Given the description of an element on the screen output the (x, y) to click on. 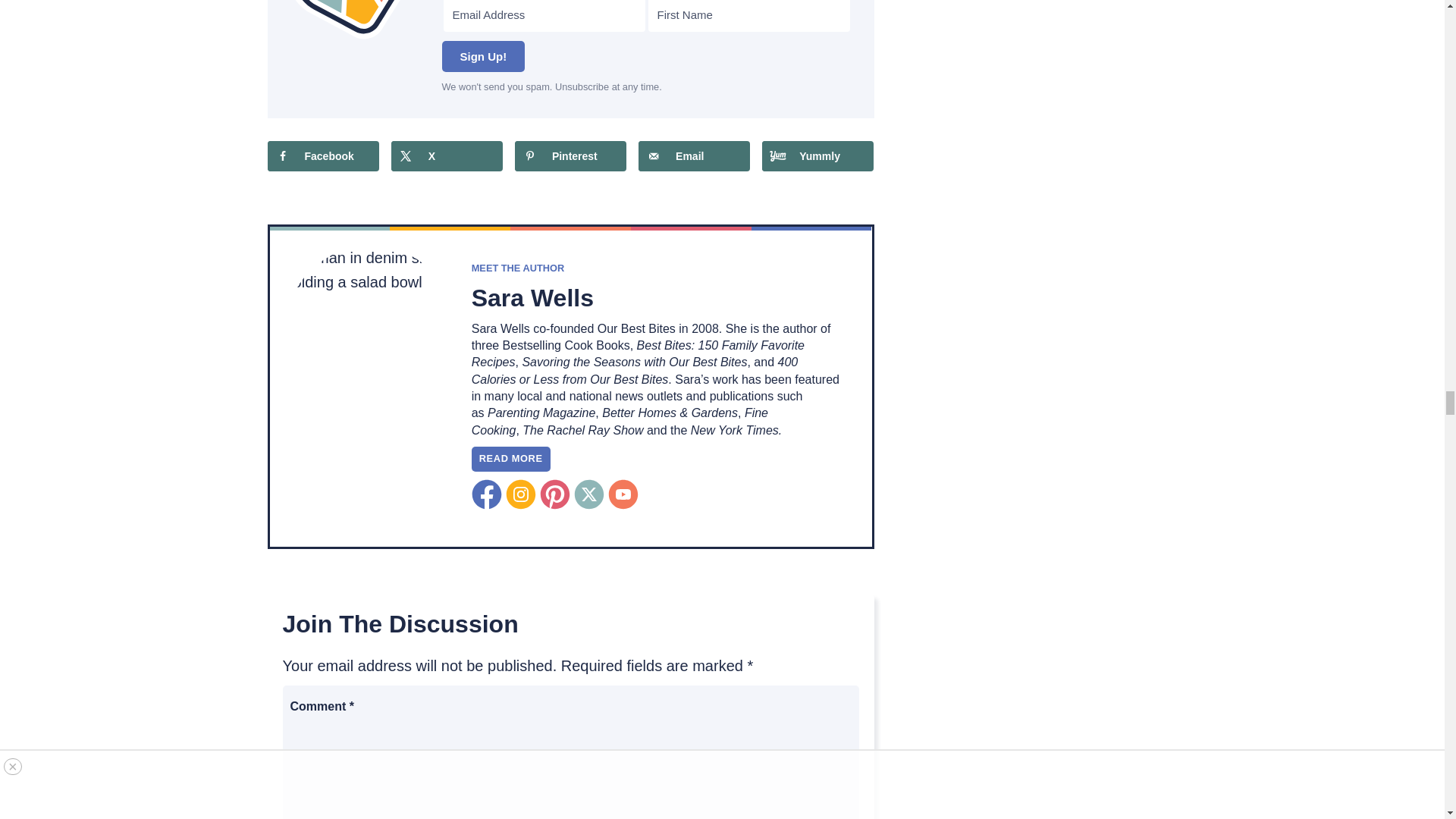
Save to Pinterest (570, 155)
Send over email (694, 155)
Share on X (446, 155)
Share on Facebook (322, 155)
Share on Yummly (817, 155)
